Given the description of an element on the screen output the (x, y) to click on. 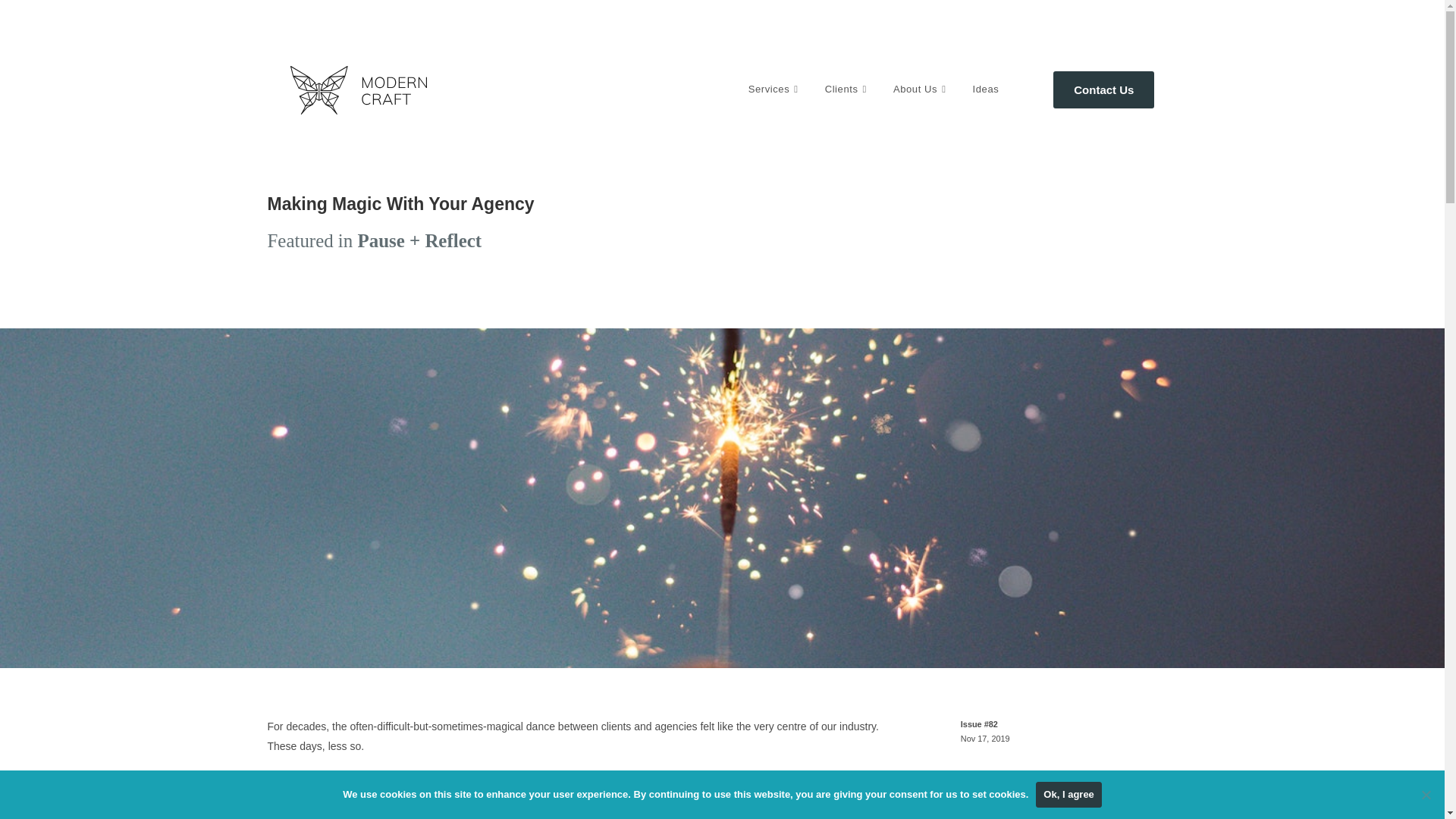
About Us (921, 89)
Services (774, 89)
Services (774, 89)
Contact Us (1103, 89)
Clients (847, 89)
modern craft logo (357, 110)
About Us (921, 89)
Clients (847, 89)
modern craft logo (357, 90)
